Given the description of an element on the screen output the (x, y) to click on. 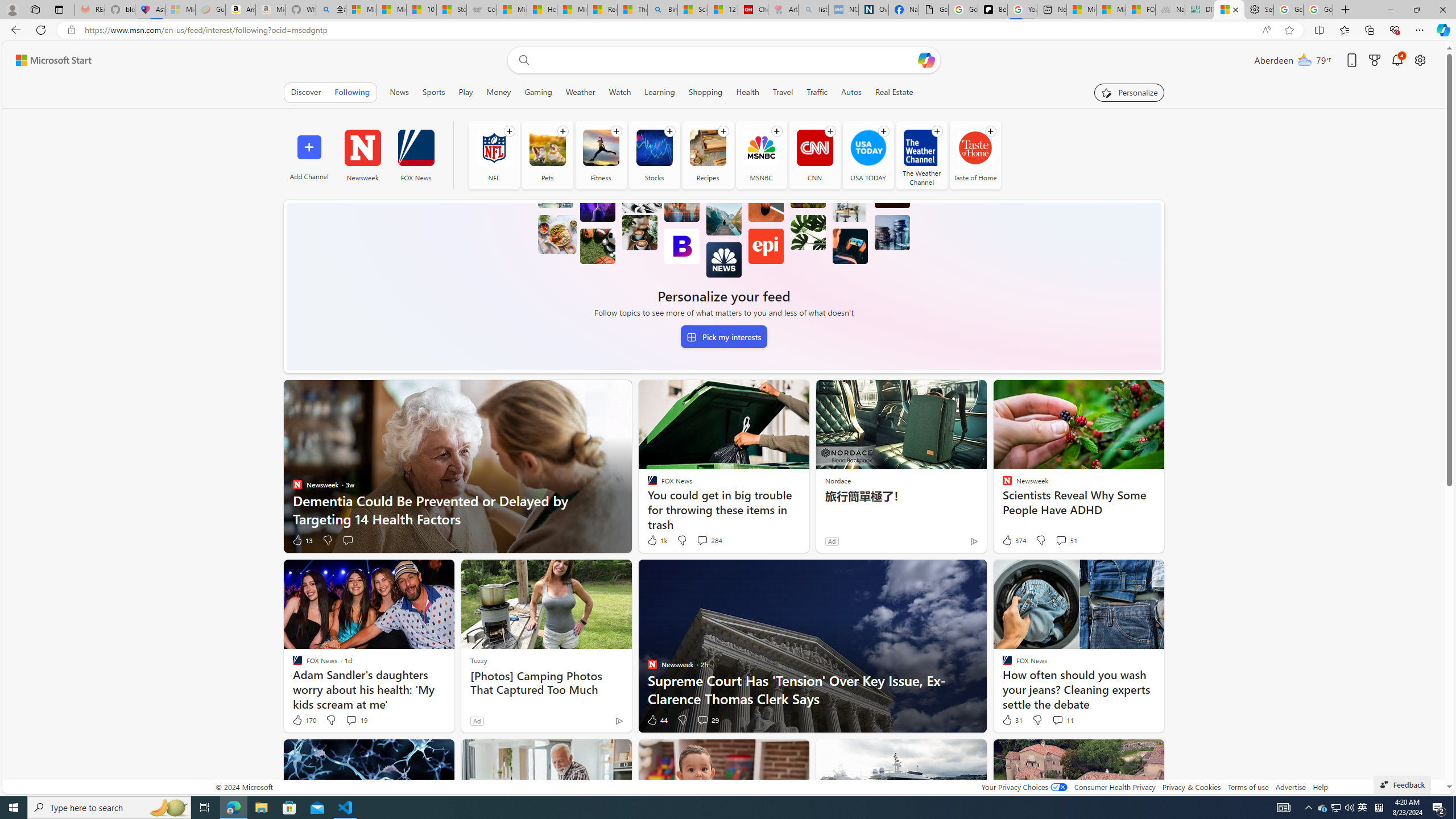
Stocks (653, 155)
View comments 19 Comment (350, 719)
MSNBC (761, 155)
Bing (662, 9)
USA TODAY (868, 155)
Recipes (707, 147)
Learning (659, 92)
12 Popular Science Lies that Must be Corrected (722, 9)
Taste of Home (975, 155)
